Given the description of an element on the screen output the (x, y) to click on. 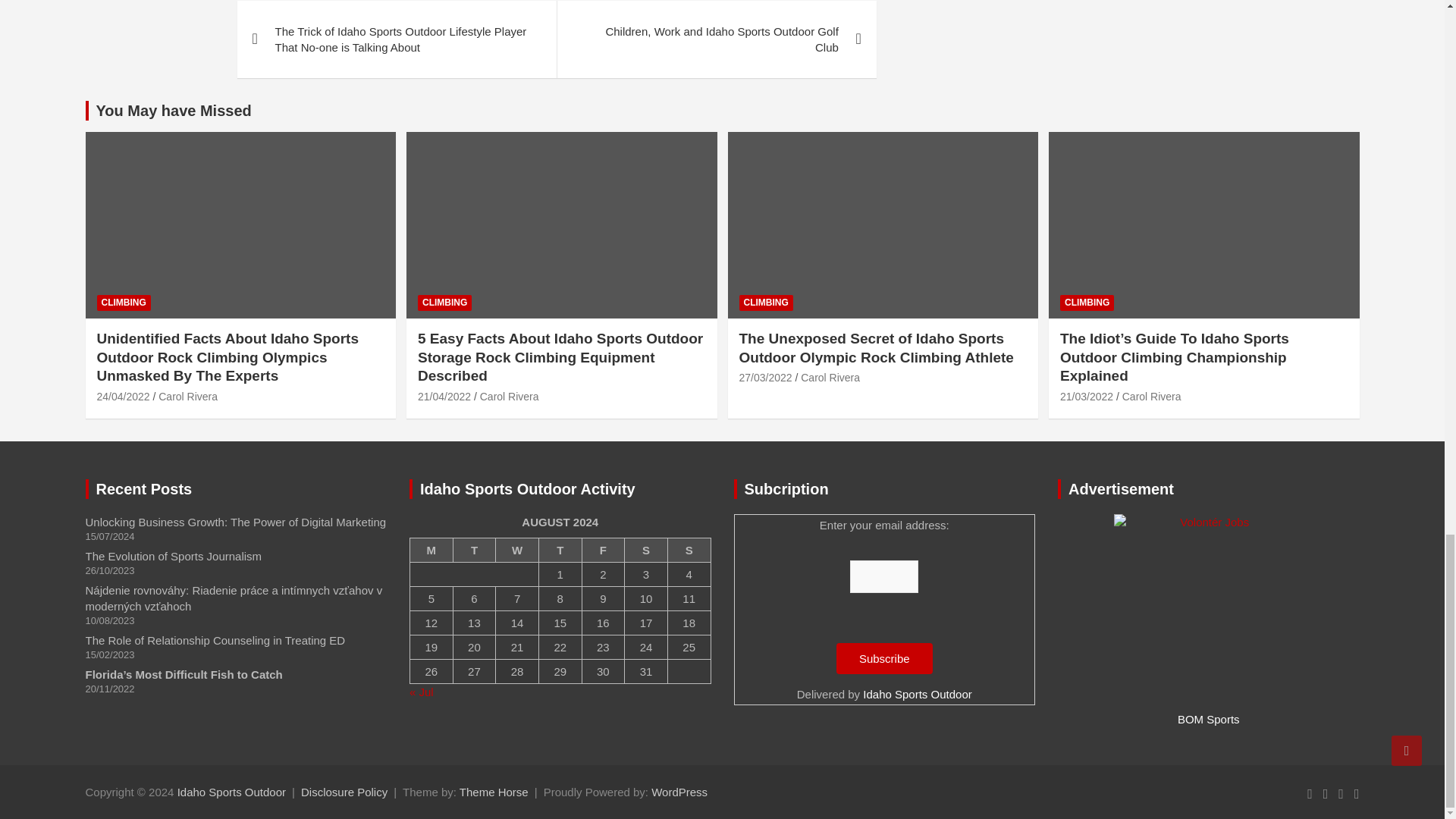
Friday (602, 549)
Subscribe (884, 658)
Tuesday (474, 549)
Children, Work and Idaho Sports Outdoor Golf Club (716, 38)
Thursday (559, 549)
Monday (430, 549)
Wednesday (517, 549)
